Given the description of an element on the screen output the (x, y) to click on. 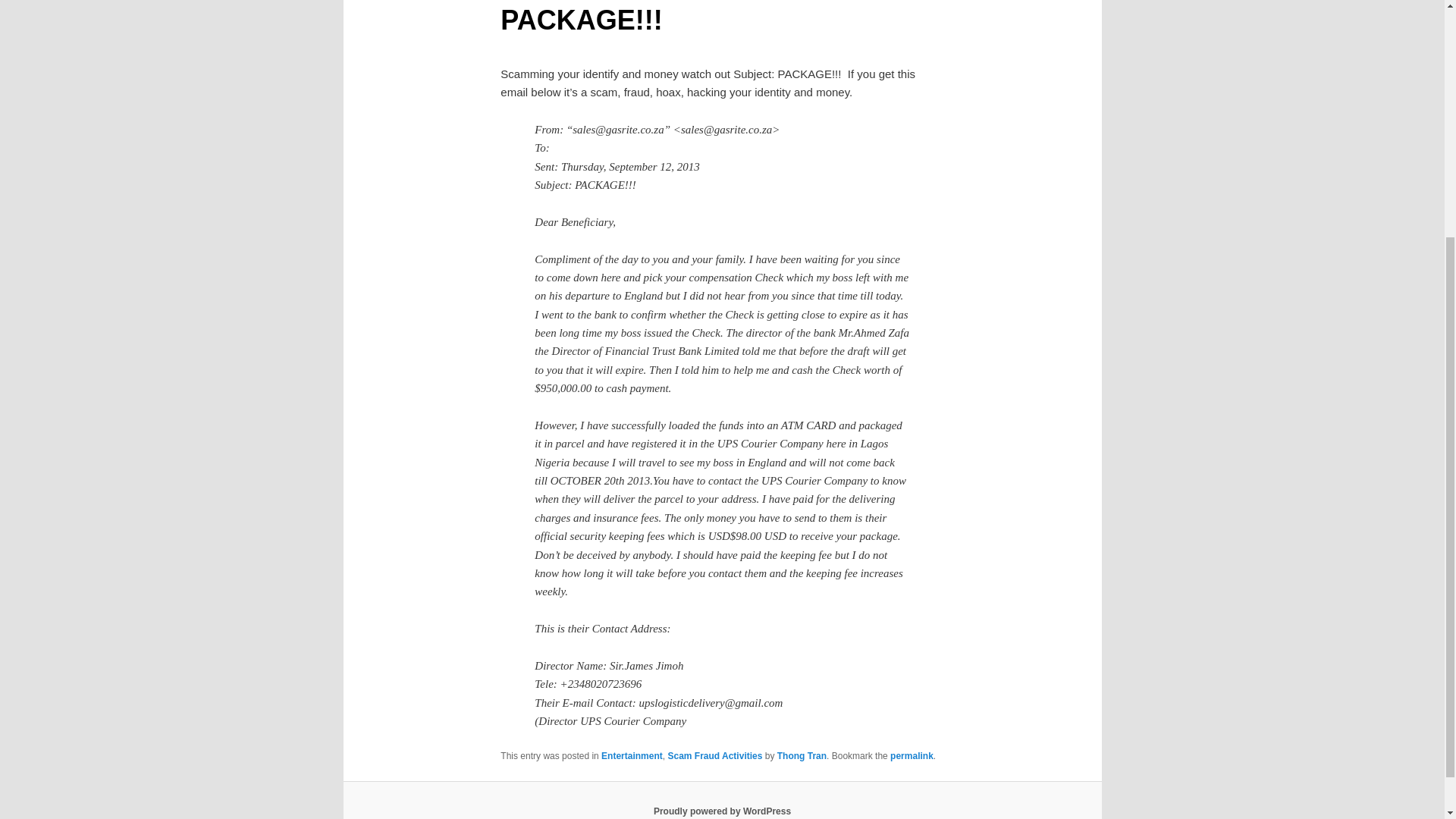
Entertainment (631, 756)
permalink (911, 756)
Thong Tran (802, 756)
Scam Fraud Activities (713, 756)
Semantic Personal Publishing Platform (721, 810)
Proudly powered by WordPress (721, 810)
